Given the description of an element on the screen output the (x, y) to click on. 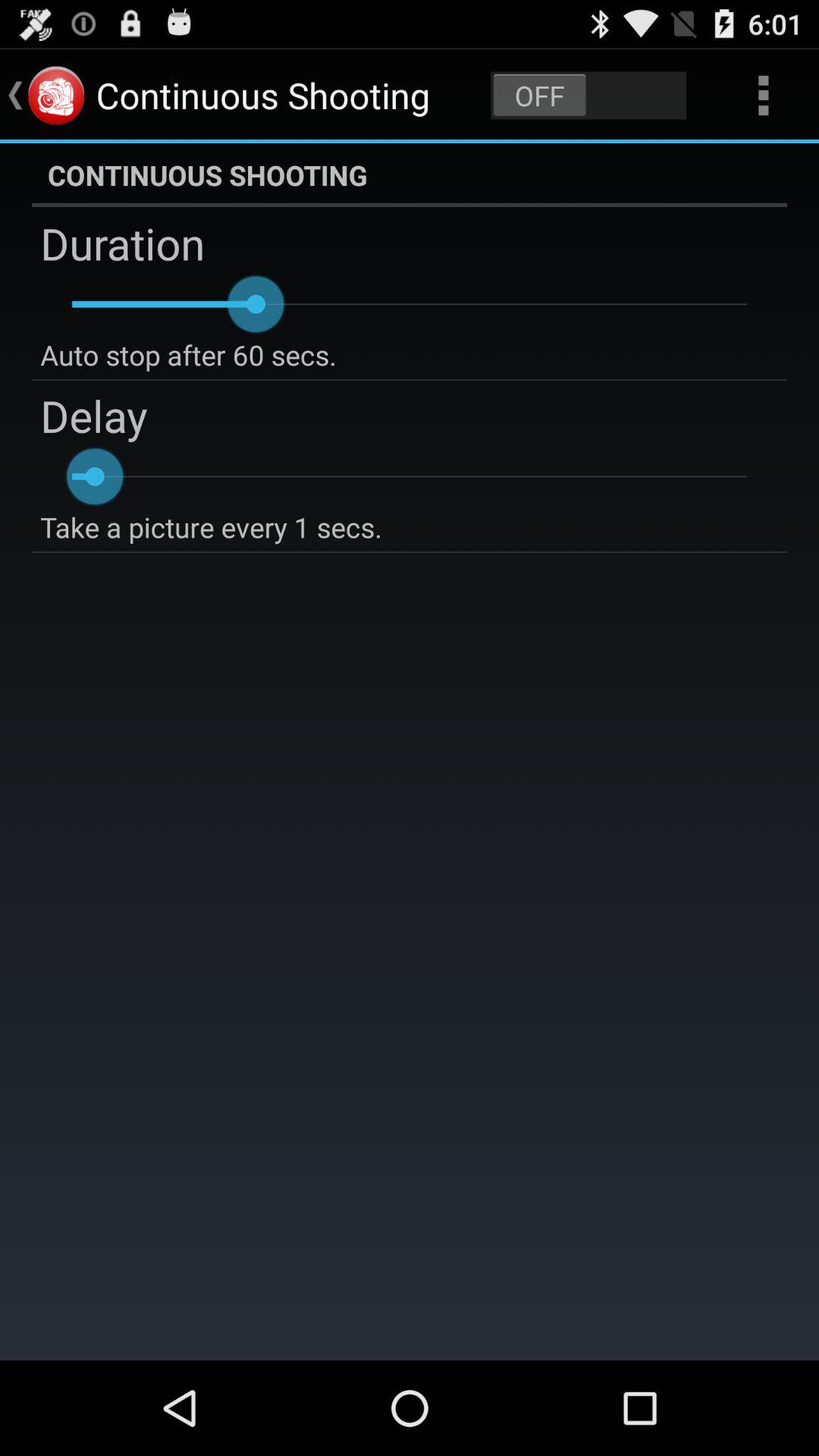
turn on/off continuos shooting (588, 95)
